Given the description of an element on the screen output the (x, y) to click on. 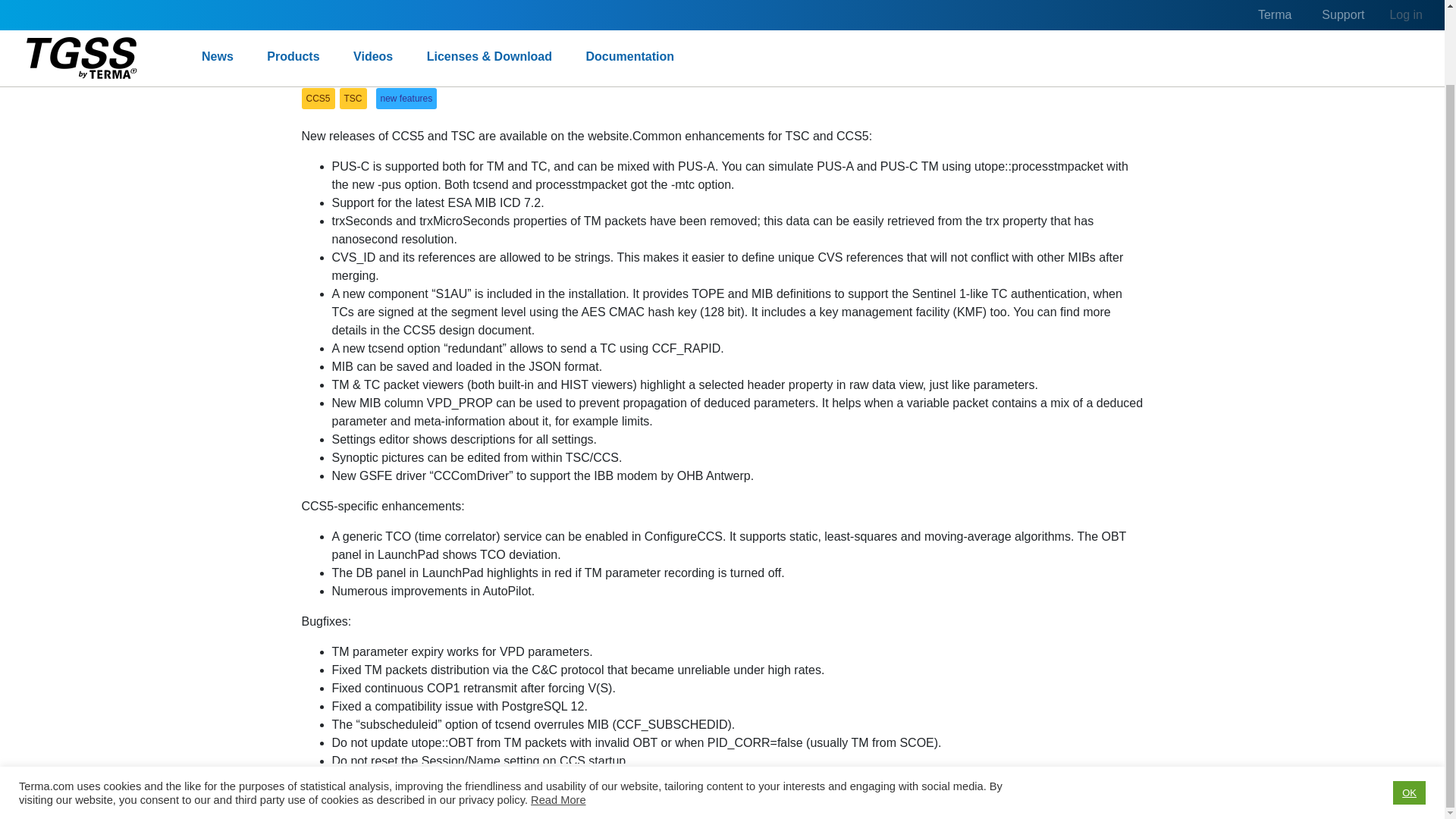
Contact us (836, 713)
Terma (779, 713)
Read More (558, 716)
OK (1409, 709)
CCS5 (356, 28)
TSC (404, 28)
